Given the description of an element on the screen output the (x, y) to click on. 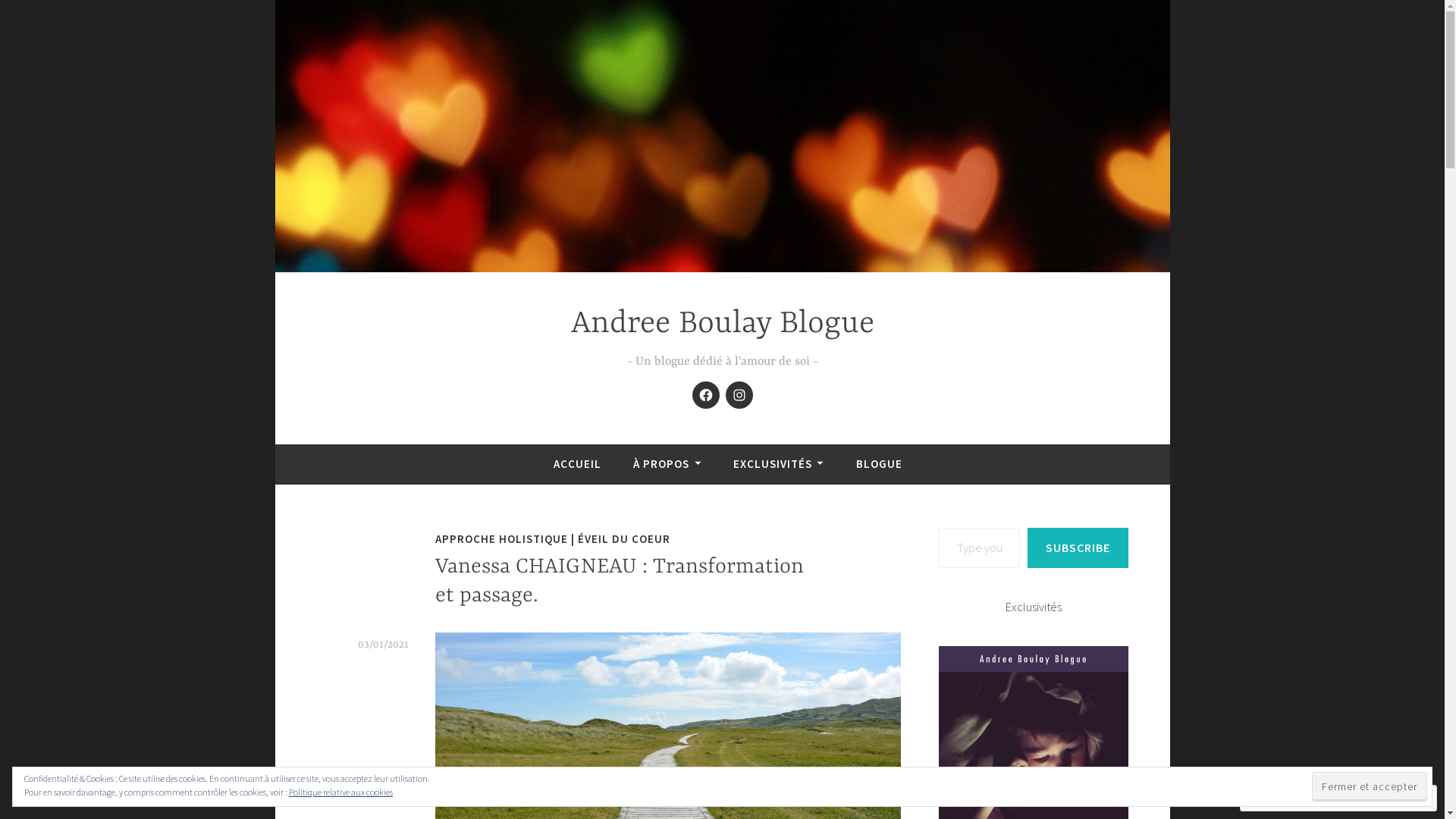
BLOGUE Element type: text (879, 463)
Fermer et accepter Element type: text (1369, 786)
Commentaire Element type: text (1289, 797)
ACCUEIL Element type: text (577, 463)
Politique relative aux cookies Element type: text (340, 791)
03/01/2021 Element type: text (382, 644)
Andree Boulay Blogue Element type: text (721, 324)
SUBSCRIBE Element type: text (1076, 547)
Suivre Element type: text (1373, 797)
